Given the description of an element on the screen output the (x, y) to click on. 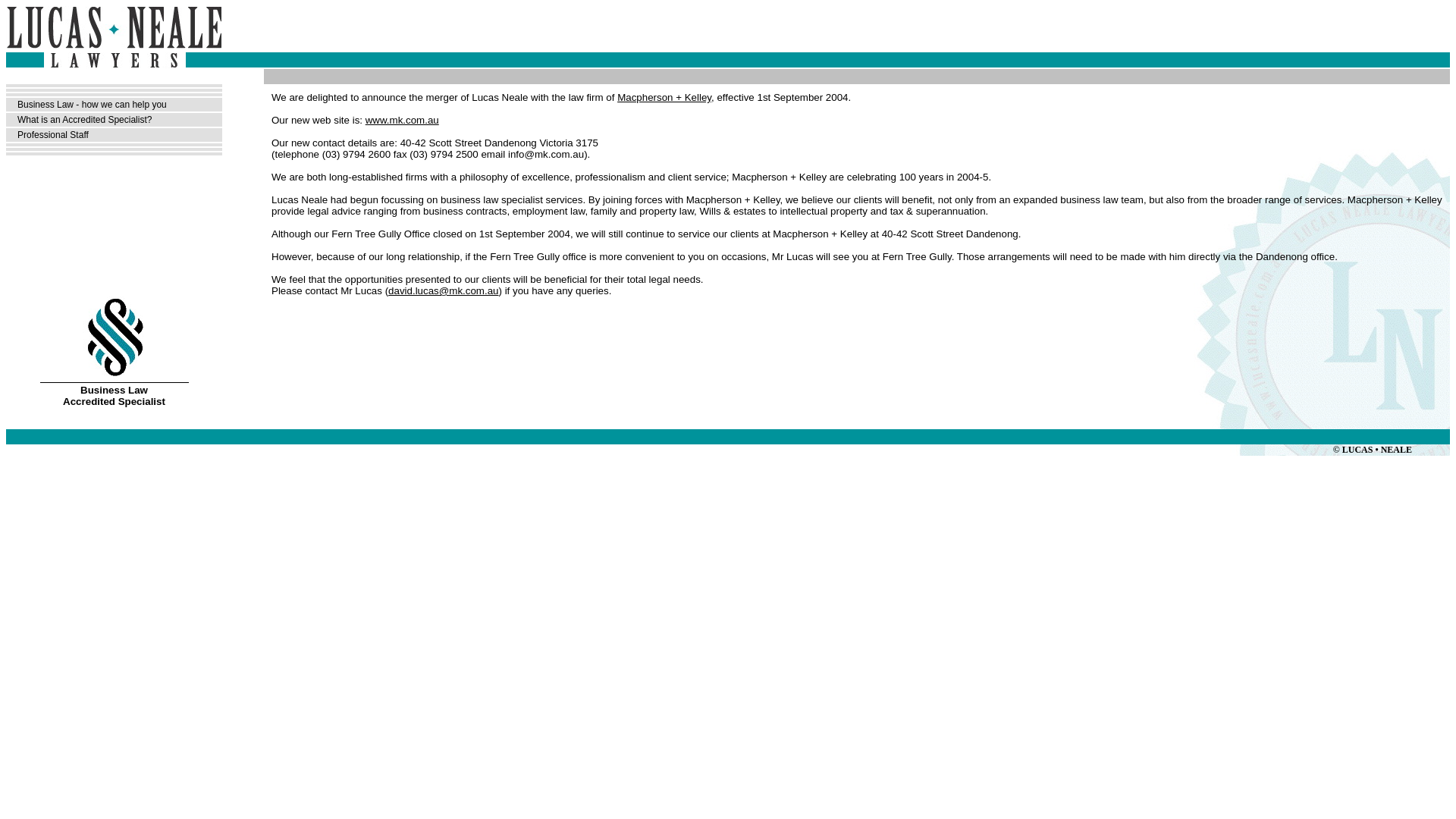
www.mk.com.au Element type: text (402, 119)
What is an Accredited Specialist? Element type: text (84, 119)
david.lucas@mk.com.au Element type: text (443, 290)
Macpherson + Kelley Element type: text (664, 97)
Business Law - how we can help you Element type: text (91, 104)
Professional Staff Element type: text (52, 134)
